Given the description of an element on the screen output the (x, y) to click on. 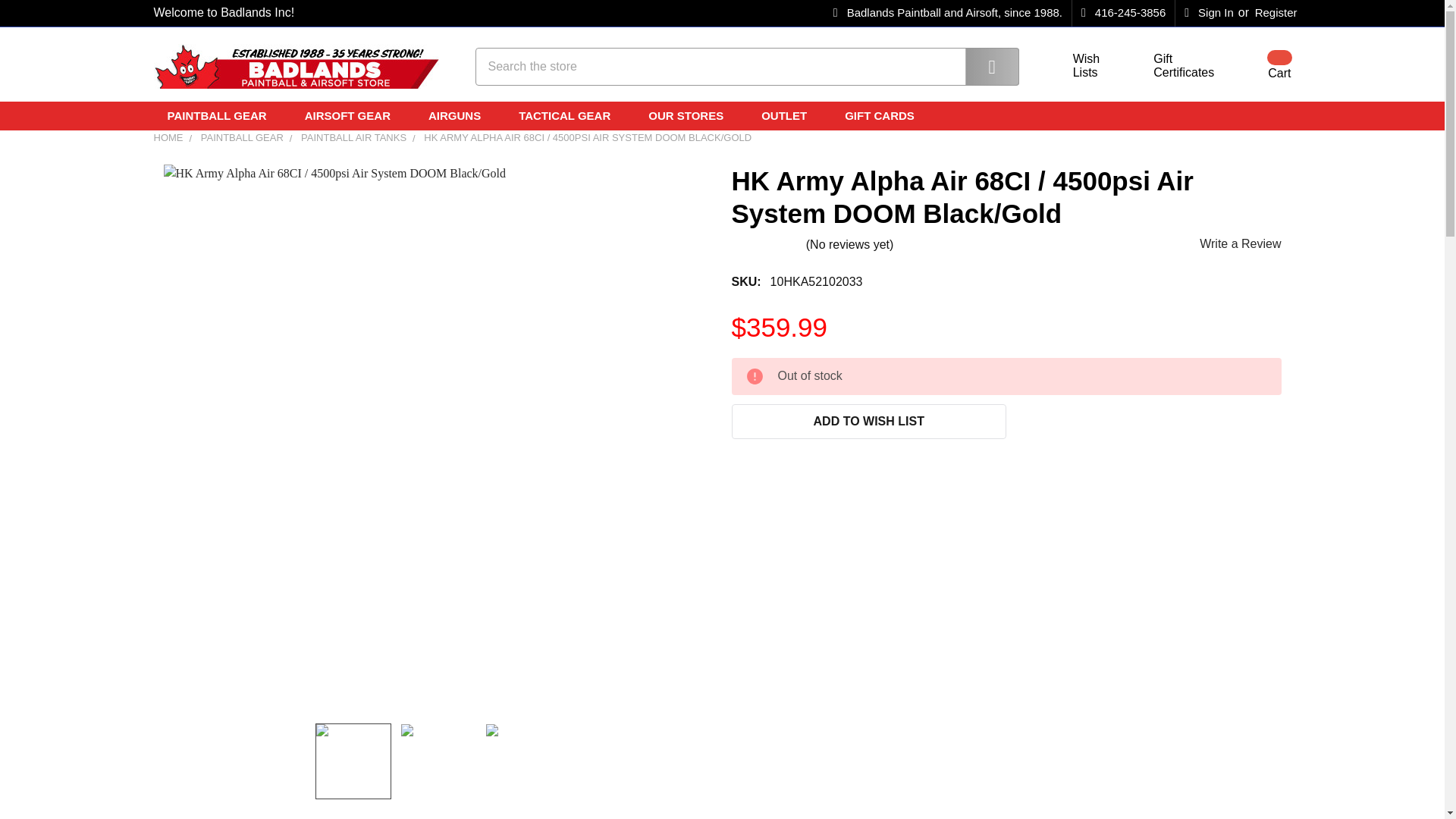
Register (1276, 13)
PAINTBALL GEAR (220, 116)
416-245-3856 (1122, 13)
Search (981, 65)
Hk Army Alpha Air Size Chart (523, 760)
Cart (1077, 66)
Sign In (1260, 65)
Instagram (1208, 13)
Gift Certificates (1249, 114)
